Given the description of an element on the screen output the (x, y) to click on. 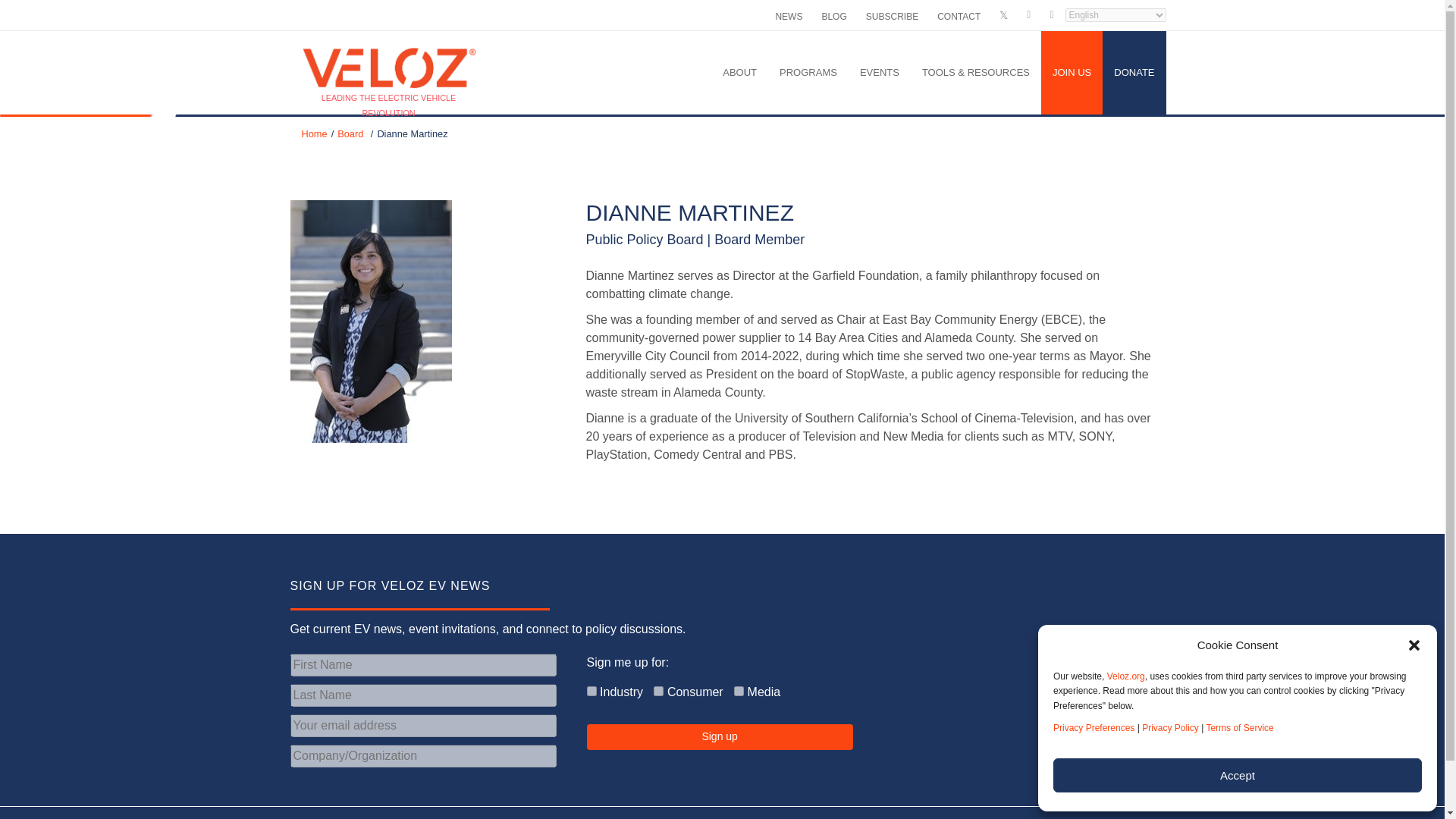
Terms of Service (1238, 727)
CONTACT (959, 15)
61731298d3 (658, 691)
PROGRAMS (808, 72)
Sign Up for EV News (892, 15)
3918382d62 (591, 691)
Sign up (719, 736)
Privacy Preferences (1093, 727)
LEADING THE ELECTRIC VEHICLE REVOLUTION (389, 49)
LEADING THE ELECTRIC VEHICLE REVOLUTION (389, 49)
NEWS (788, 15)
Blog (833, 15)
441c97f9be (738, 691)
Veloz News (788, 15)
BLOG (833, 15)
